Given the description of an element on the screen output the (x, y) to click on. 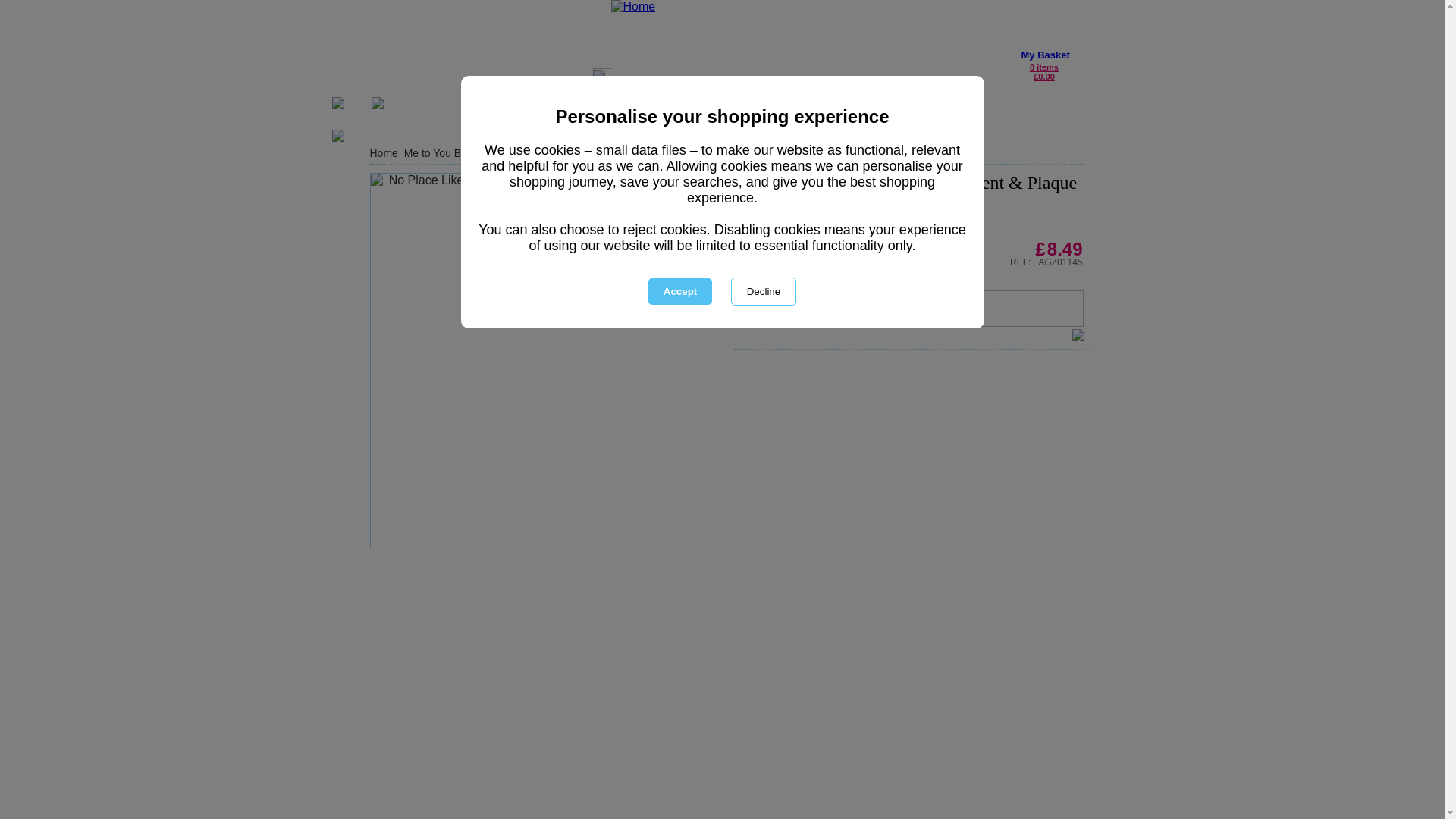
Accept (679, 291)
1 (828, 307)
Accept (679, 291)
Decline (763, 291)
Search now.. (533, 80)
Decline (763, 291)
My Basket (1044, 54)
